Given the description of an element on the screen output the (x, y) to click on. 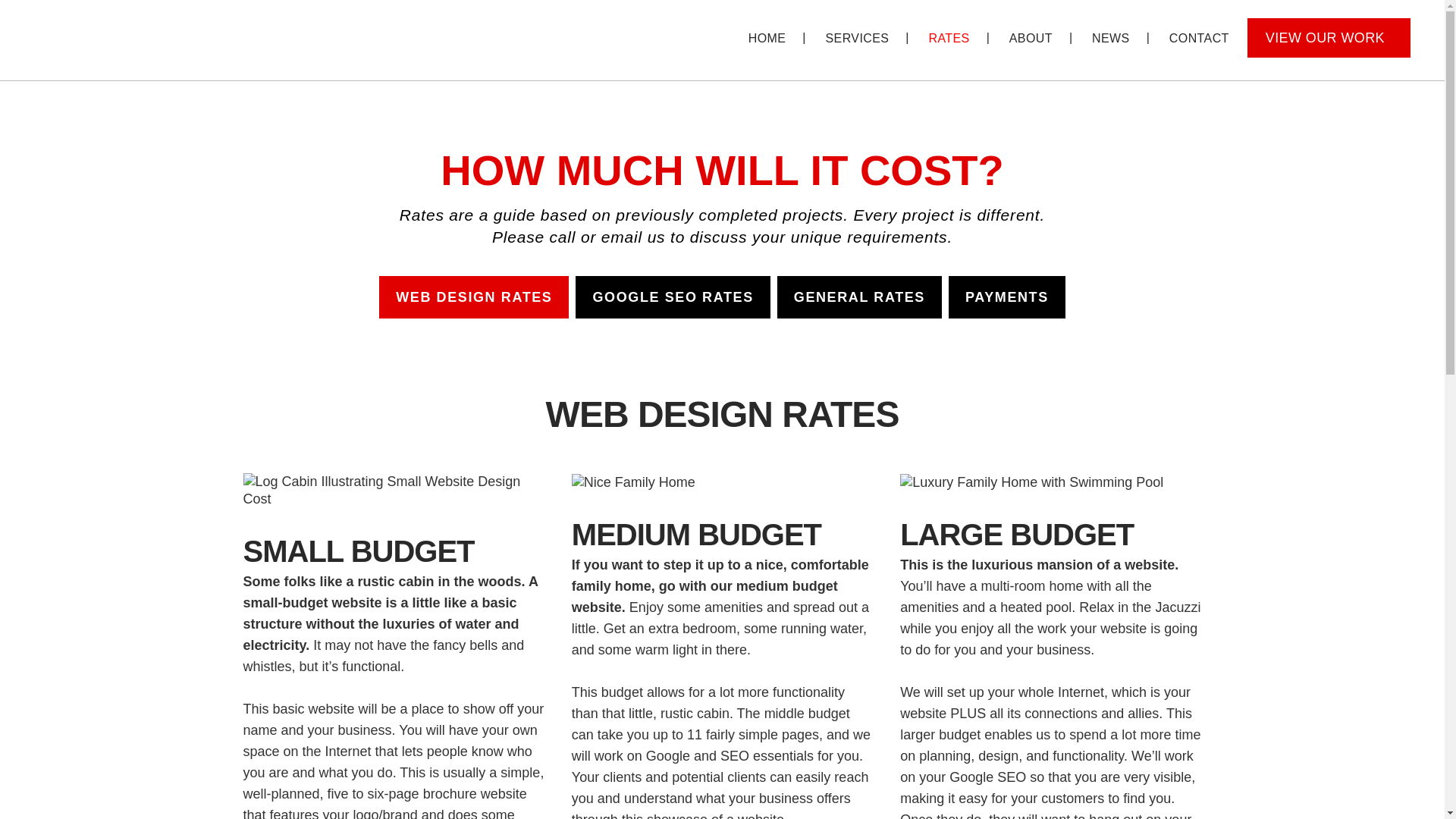
NEWS (1111, 38)
large budget website cost (1031, 482)
WEB DESIGN RATES (473, 297)
RATES (948, 38)
GOOGLE SEO RATES (672, 297)
small budget website cost (393, 490)
GENERAL RATES (859, 297)
HOME (767, 38)
SERVICES (856, 38)
PAYMENTS (1007, 297)
